Given the description of an element on the screen output the (x, y) to click on. 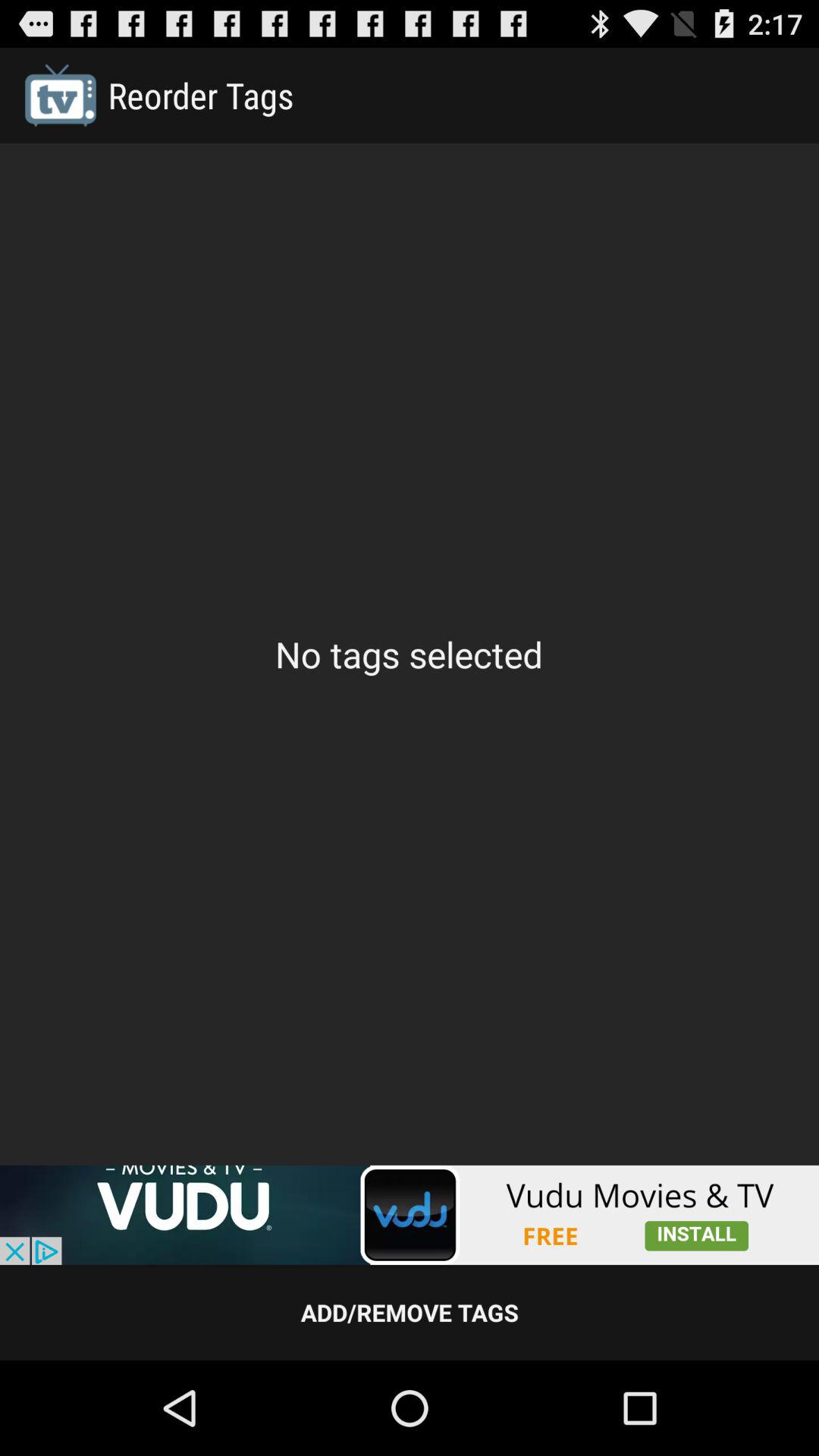
advertisement display (409, 1214)
